Given the description of an element on the screen output the (x, y) to click on. 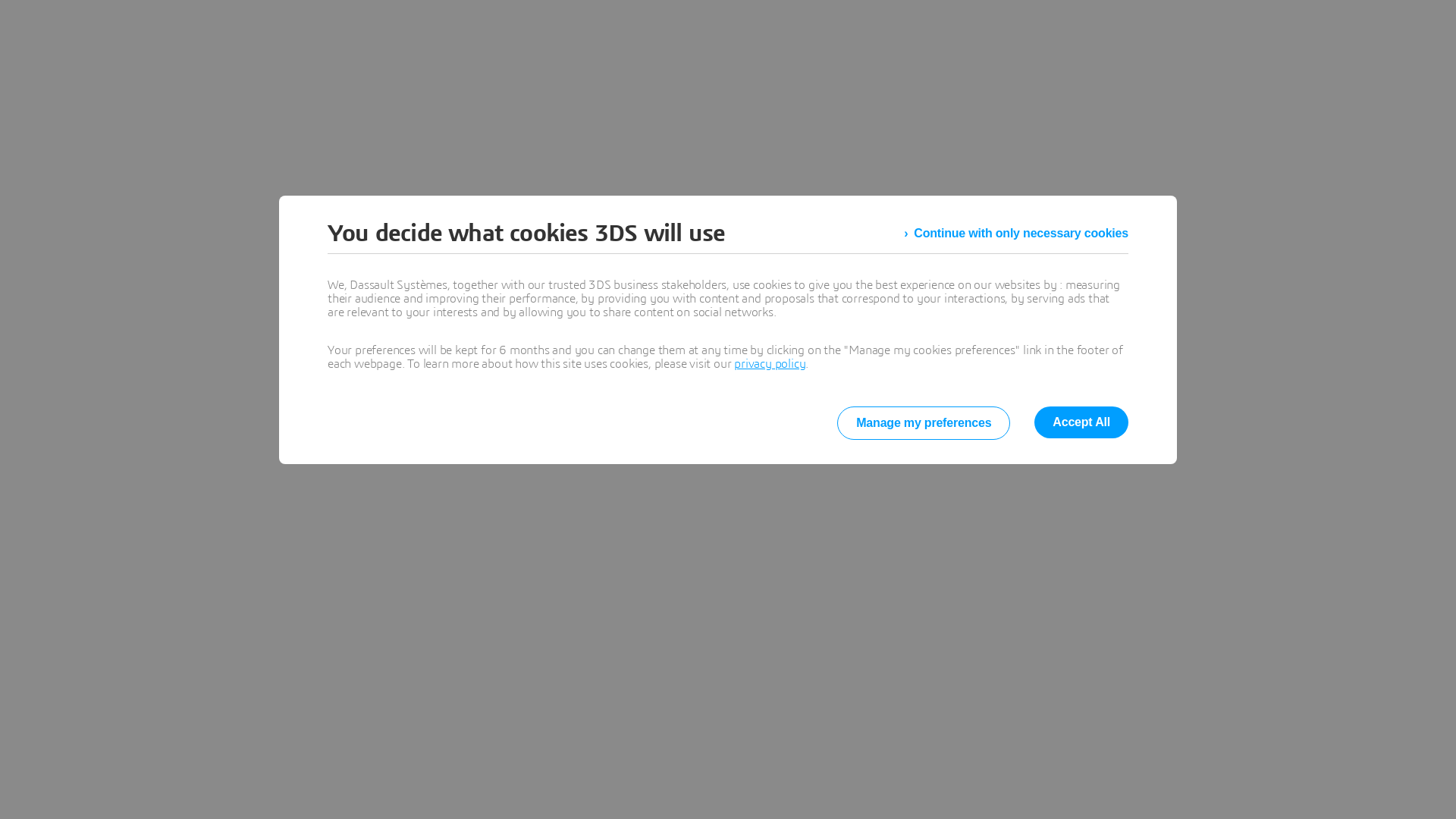
Continue with only necessary cookies Element type: text (1015, 233)
Accept All Element type: text (1081, 422)
Manage my preferences Element type: text (923, 422)
privacy policy Element type: text (769, 363)
